Given the description of an element on the screen output the (x, y) to click on. 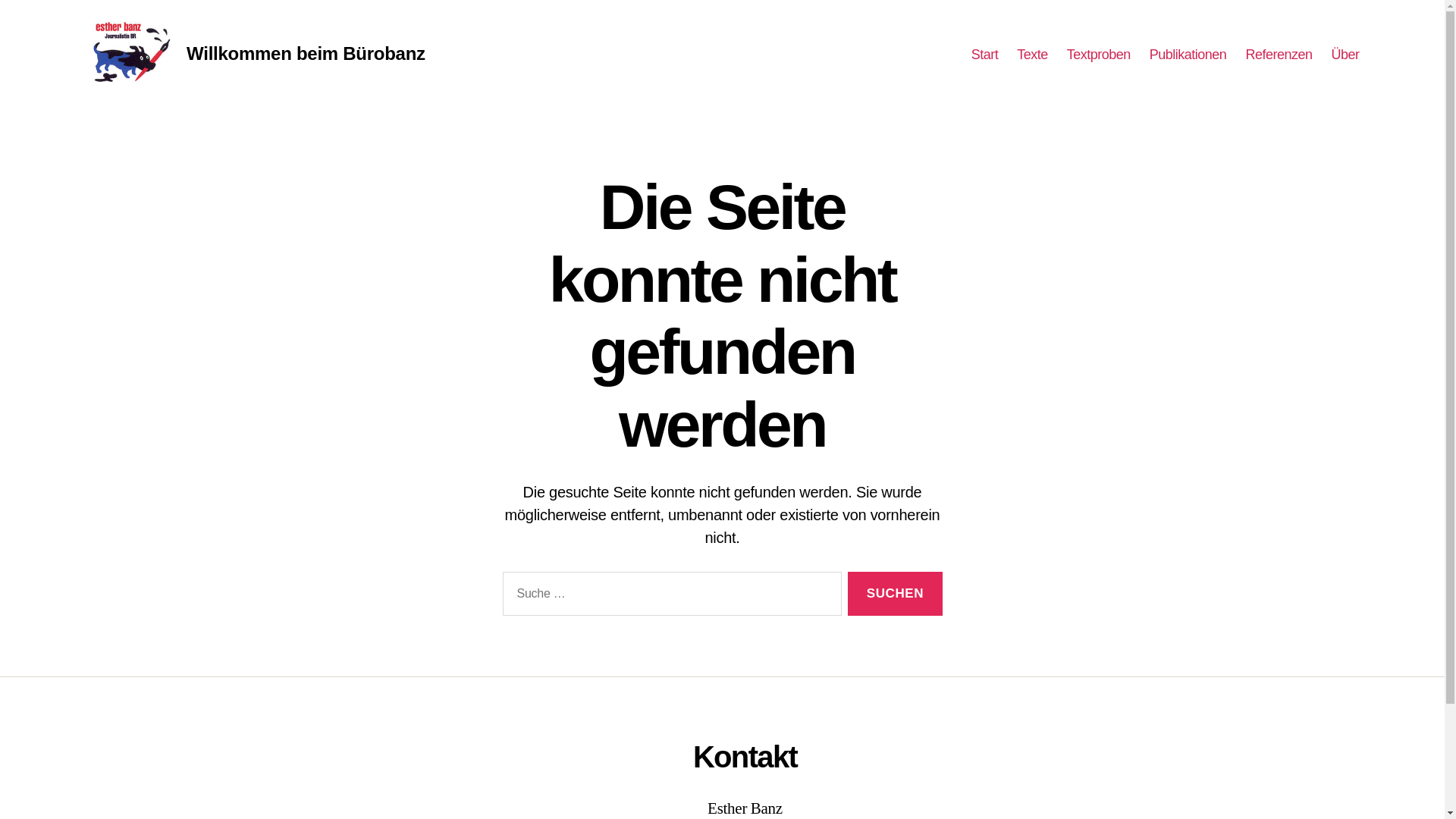
Texte Element type: text (1032, 55)
Publikationen Element type: text (1187, 55)
Textproben Element type: text (1098, 55)
Referenzen Element type: text (1278, 55)
Start Element type: text (984, 55)
Suchen Element type: text (894, 593)
